Given the description of an element on the screen output the (x, y) to click on. 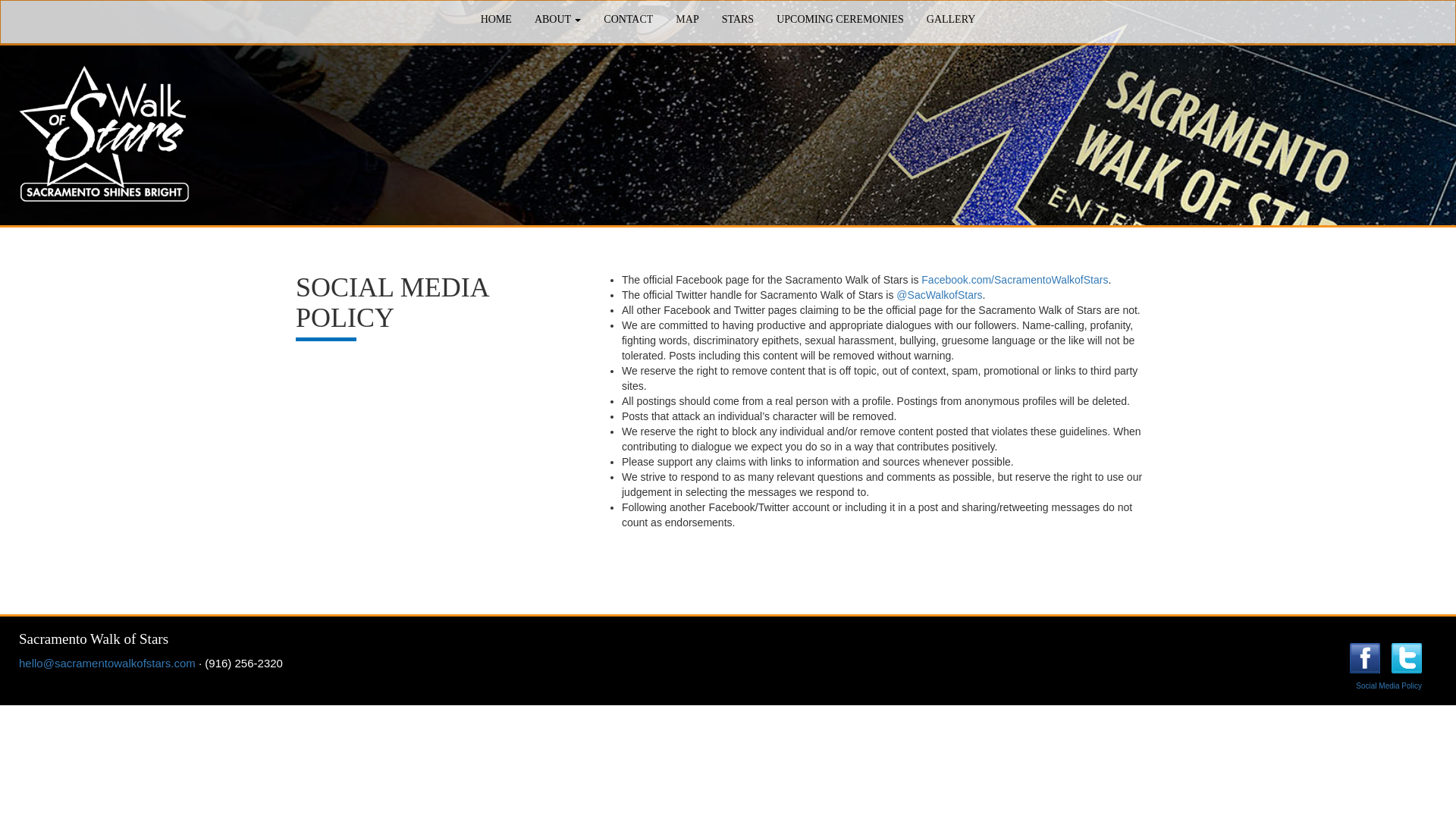
ABOUT (557, 19)
CONTACT (627, 19)
MAP (686, 19)
MAP (686, 19)
GALLERY (951, 19)
ABOUT (557, 19)
GALLERY (951, 19)
STARS (737, 19)
UPCOMING CEREMONIES (840, 19)
STARS (737, 19)
HOME (495, 19)
Social Media Policy (1388, 685)
CONTACT (627, 19)
HOME (495, 19)
UPCOMING CEREMONIES (840, 19)
